Given the description of an element on the screen output the (x, y) to click on. 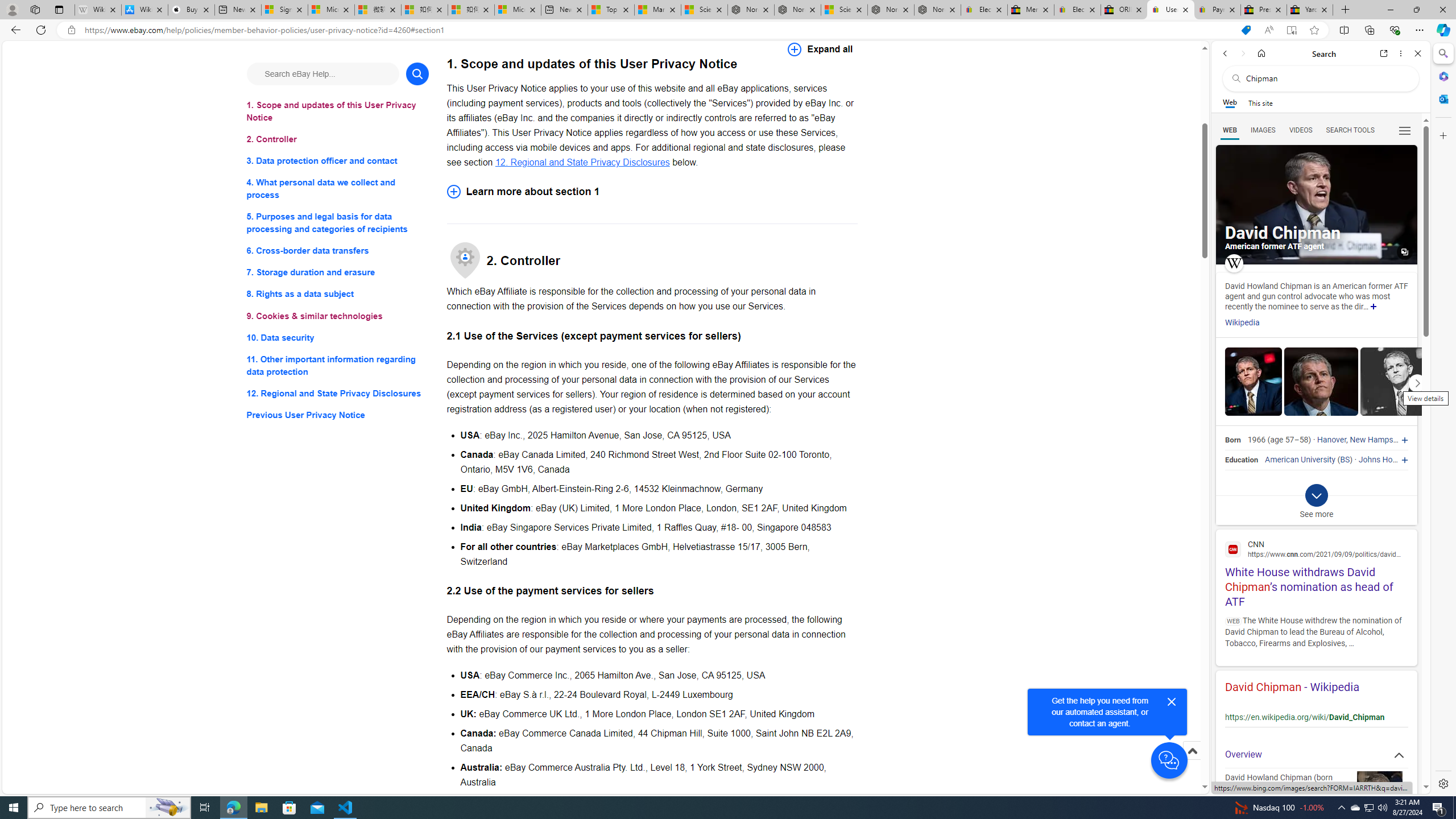
9. Cookies & similar technologies (337, 315)
View details (1396, 381)
8. Rights as a data subject (337, 293)
